Given the description of an element on the screen output the (x, y) to click on. 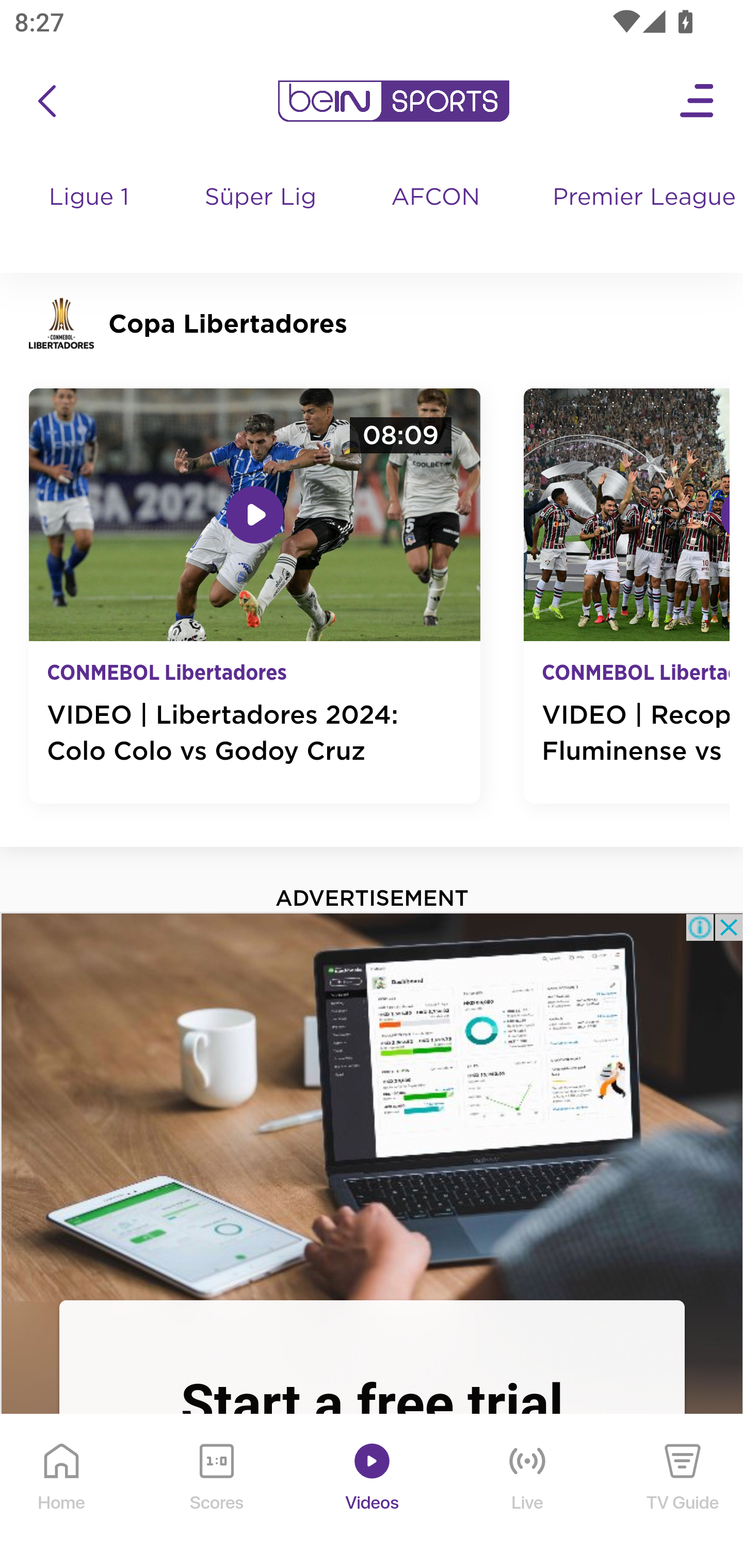
en-us?platform=mobile_android bein logo (392, 101)
icon back (46, 101)
Open Menu Icon (697, 101)
Ligue 1 (89, 216)
Süper Lig (261, 216)
AFCON (434, 198)
Premier League (639, 198)
%3Fcid%3Dppc_ROW_%7Bdscampaign%7D%26gclsrc%3Daw (371, 1105)
Home Home Icon Home (61, 1491)
Scores Scores Icon Scores (216, 1491)
Videos Videos Icon Videos (372, 1491)
TV Guide TV Guide Icon TV Guide (682, 1491)
